Given the description of an element on the screen output the (x, y) to click on. 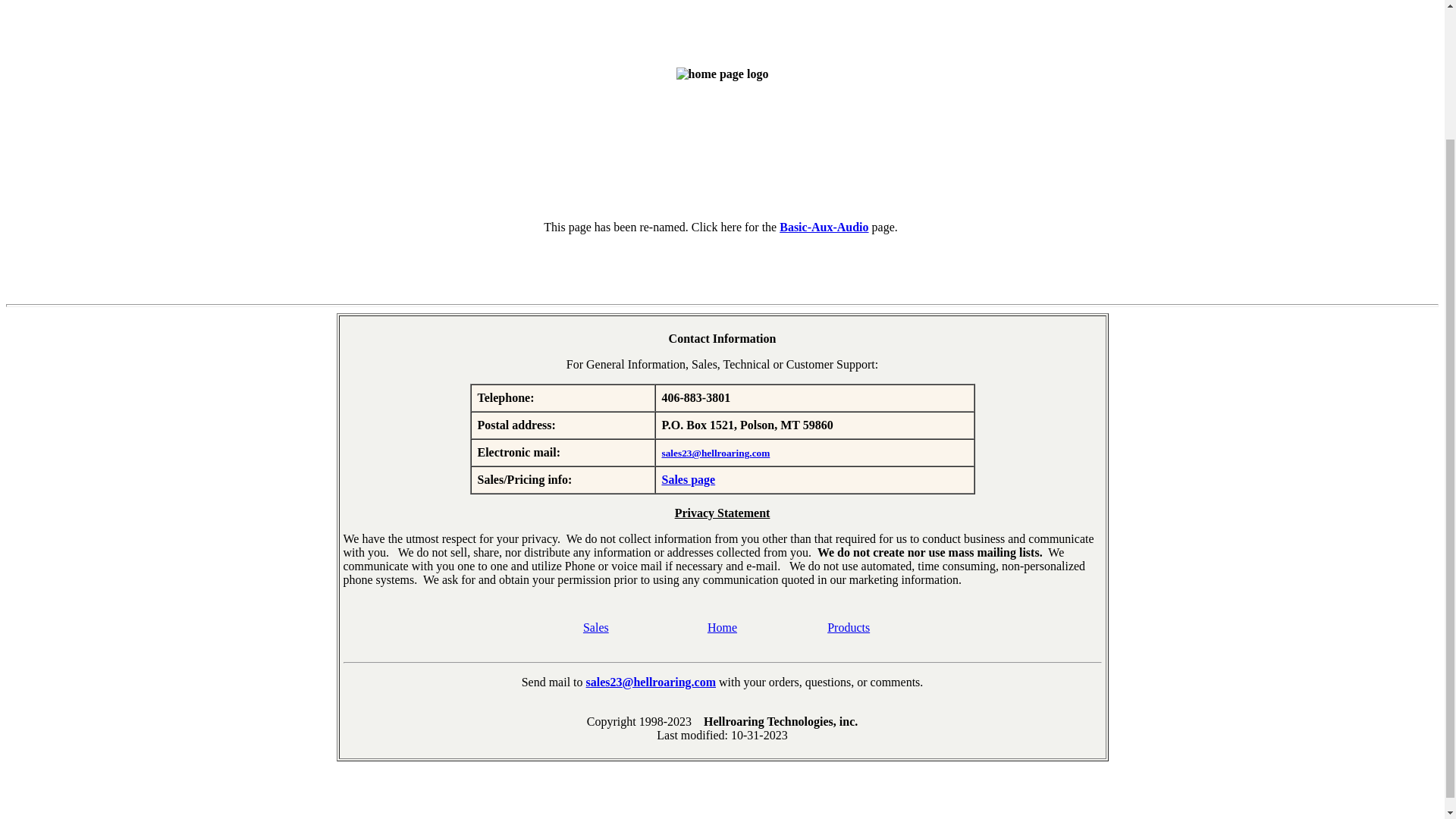
Products (848, 626)
Basic-Aux-Audio (822, 226)
Sales (595, 626)
Home (721, 626)
Sales page (687, 479)
